Given the description of an element on the screen output the (x, y) to click on. 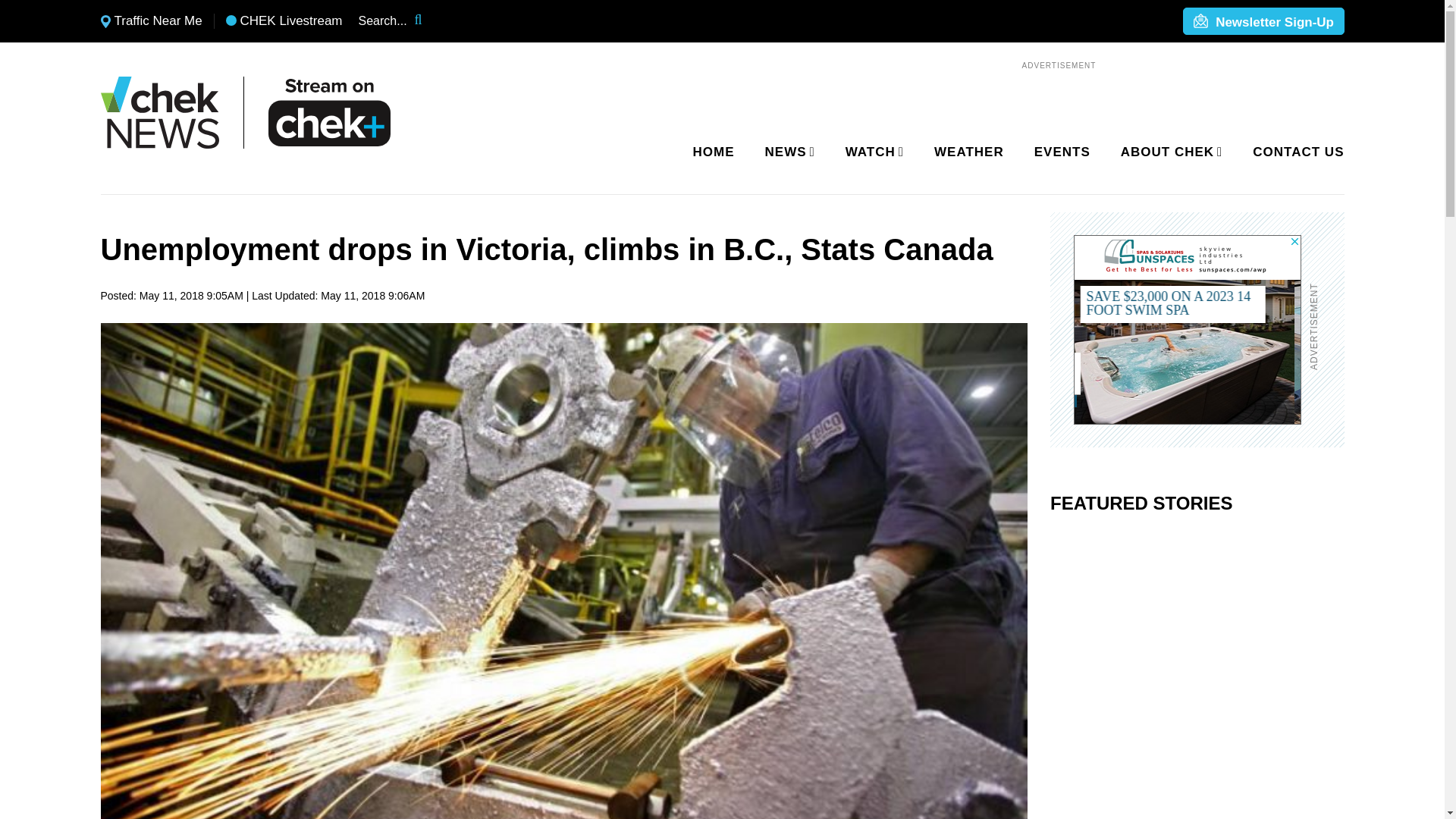
HOME (714, 152)
Newsletter Sign-Up (1262, 22)
Search (428, 21)
NEWS (787, 152)
3rd party ad content (1187, 330)
Traffic Near Me (151, 20)
CHEK Livestream (283, 20)
